Given the description of an element on the screen output the (x, y) to click on. 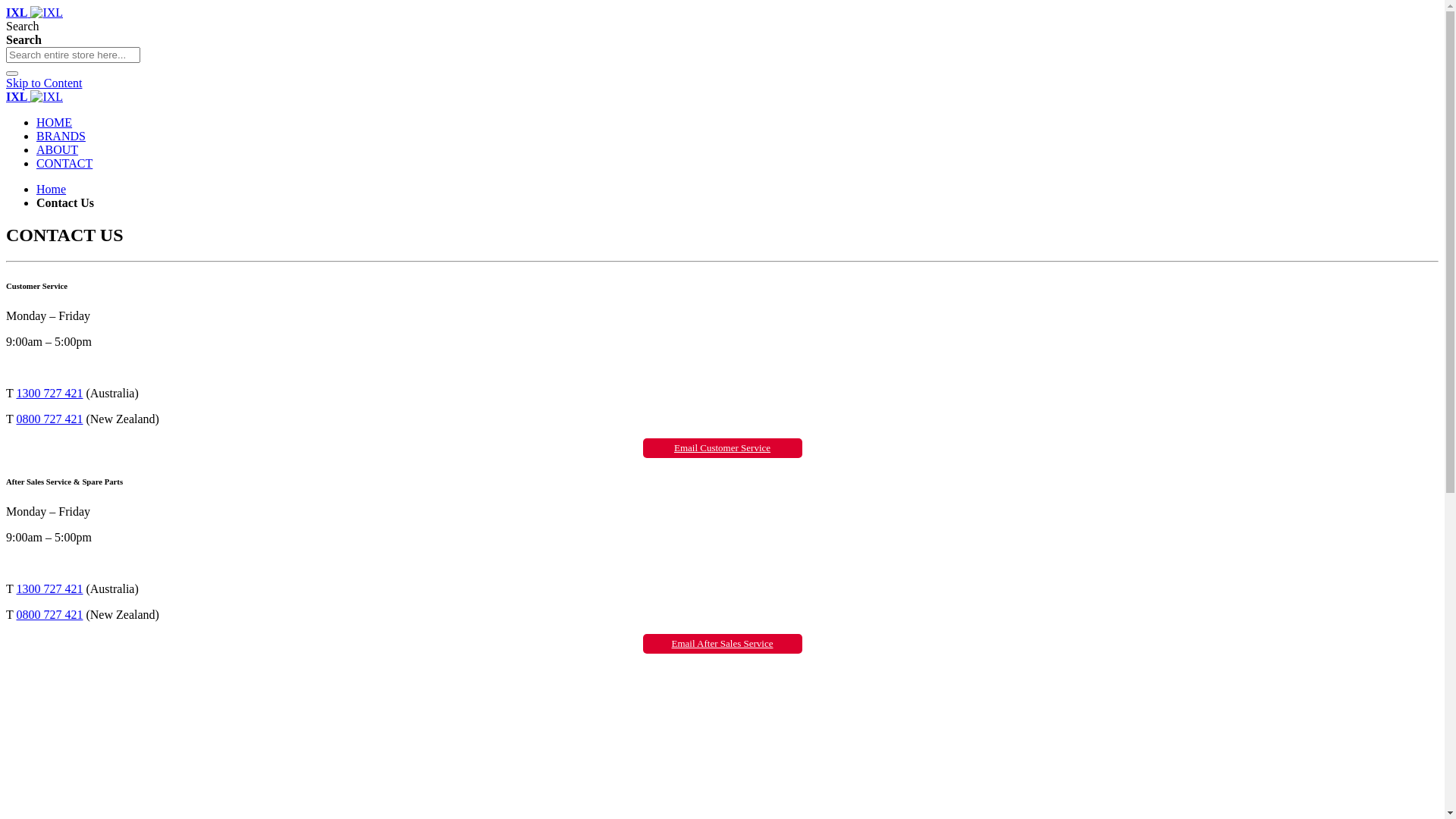
Search Element type: hover (12, 73)
1300 727 421 Element type: text (48, 588)
Email After Sales Service Element type: text (722, 643)
BRANDS Element type: text (60, 135)
IXL Element type: text (34, 96)
Home Element type: text (50, 188)
ABOUT Element type: text (57, 149)
0800 727 421 Element type: text (48, 614)
HOME Element type: text (54, 122)
Skip to Content Element type: text (43, 82)
0800 727 421 Element type: text (48, 418)
IXL Element type: text (34, 12)
1300 727 421 Element type: text (48, 392)
CONTACT Element type: text (64, 162)
Email Customer Service Element type: text (722, 447)
